Given the description of an element on the screen output the (x, y) to click on. 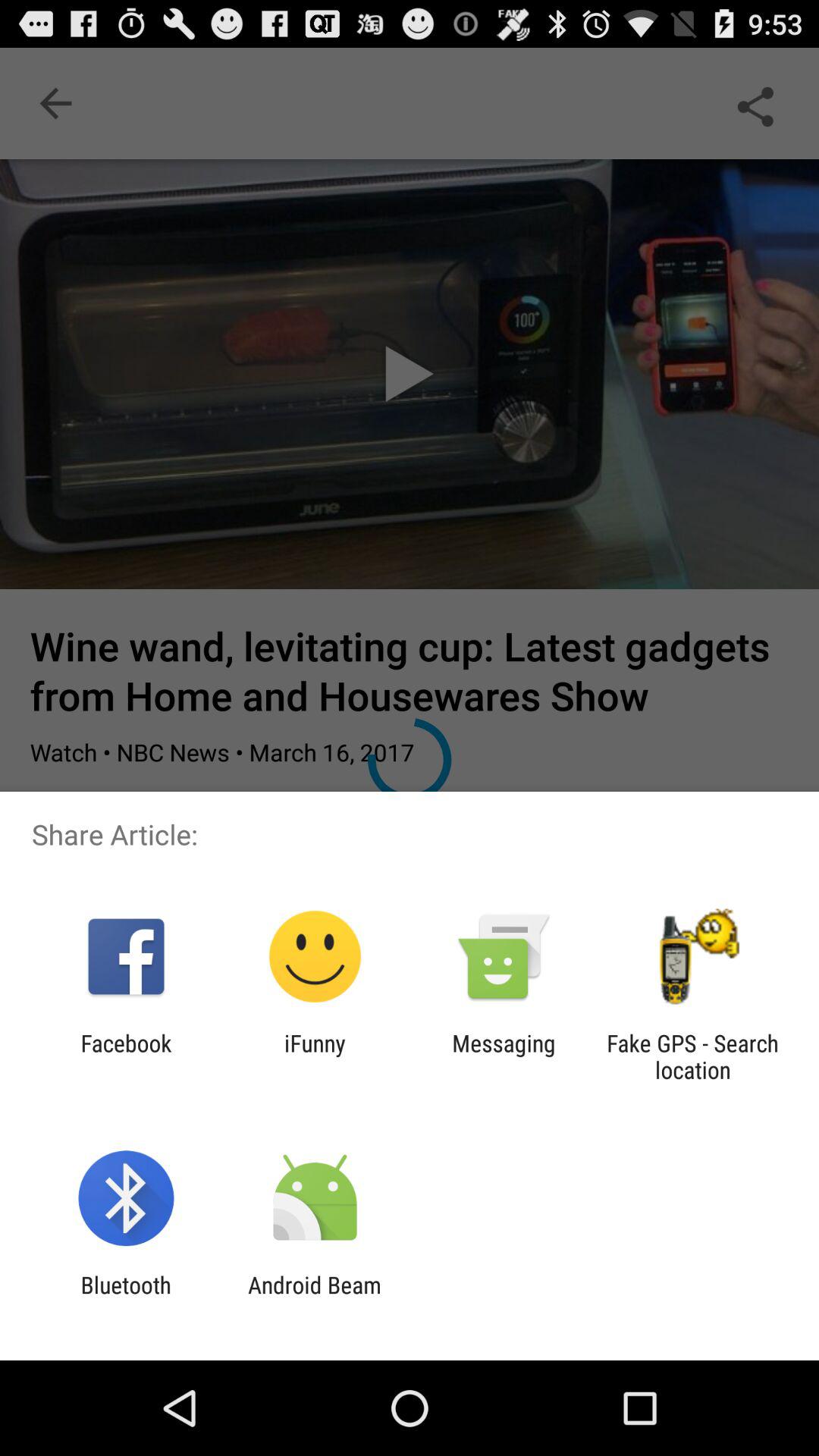
turn off app to the right of bluetooth icon (314, 1298)
